Given the description of an element on the screen output the (x, y) to click on. 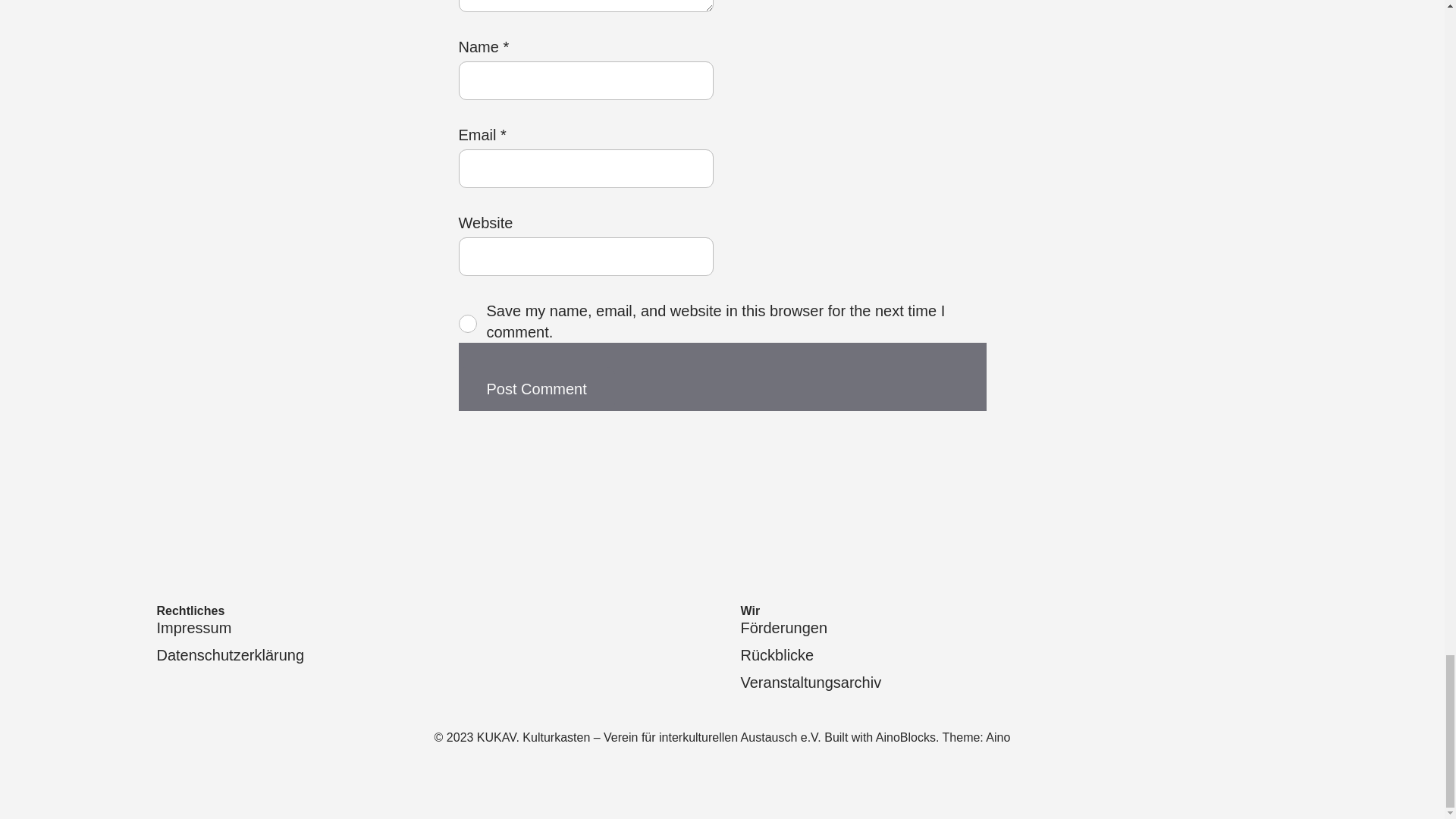
Impressum (193, 627)
Aino (997, 737)
Post Comment (536, 388)
AinoBlocks (906, 737)
Post Comment (536, 388)
Veranstaltungsarchiv (809, 681)
yes (467, 323)
